Given the description of an element on the screen output the (x, y) to click on. 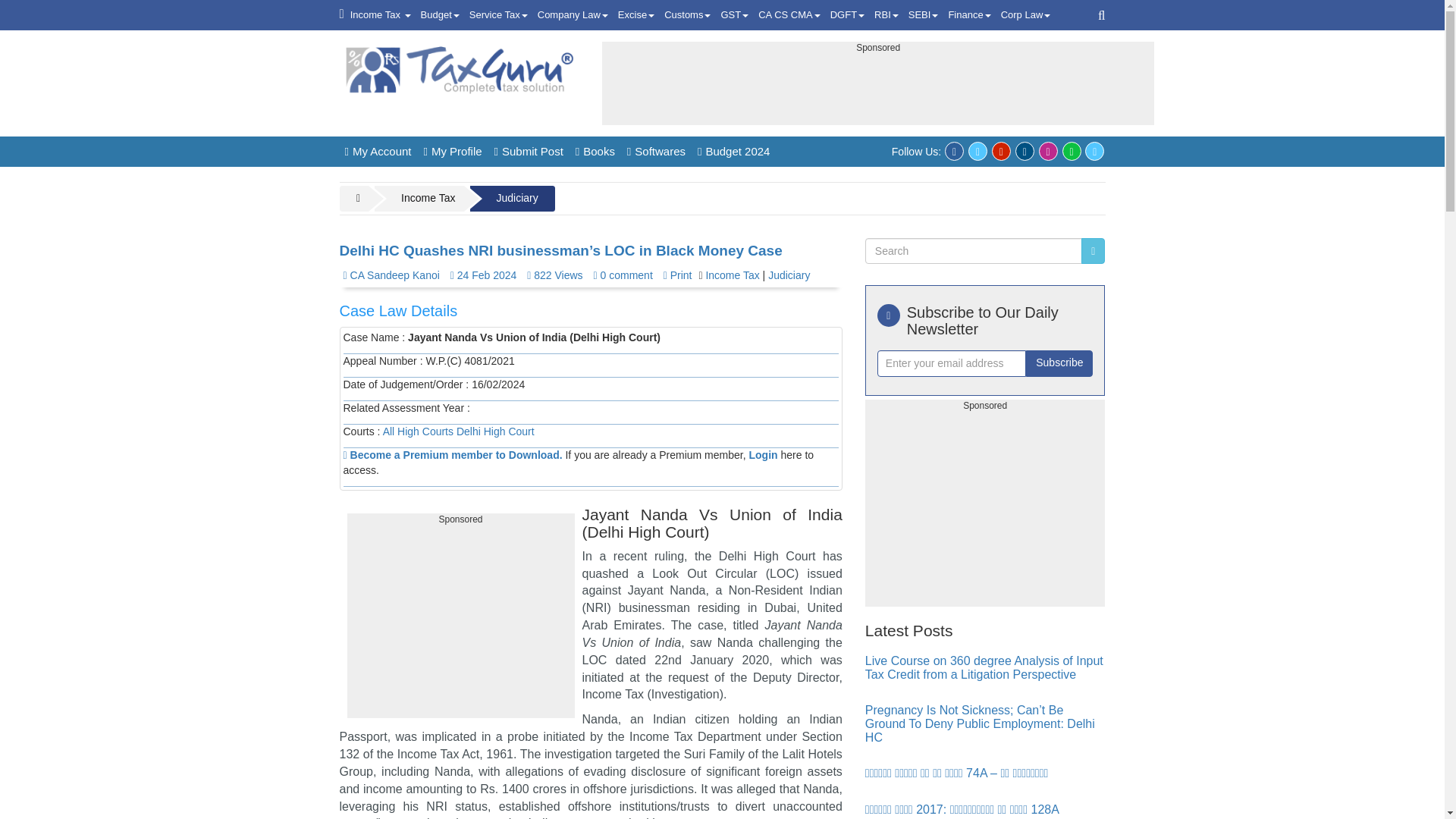
Excise (636, 15)
Union Budget 2024 Article News Notifications (439, 15)
Service Tax Article News Notifications Judgments (498, 15)
Company Law (572, 15)
Income Tax (380, 15)
Customs (687, 15)
Service Tax (498, 15)
Income Tax Related Information (380, 15)
Budget (439, 15)
